Given the description of an element on the screen output the (x, y) to click on. 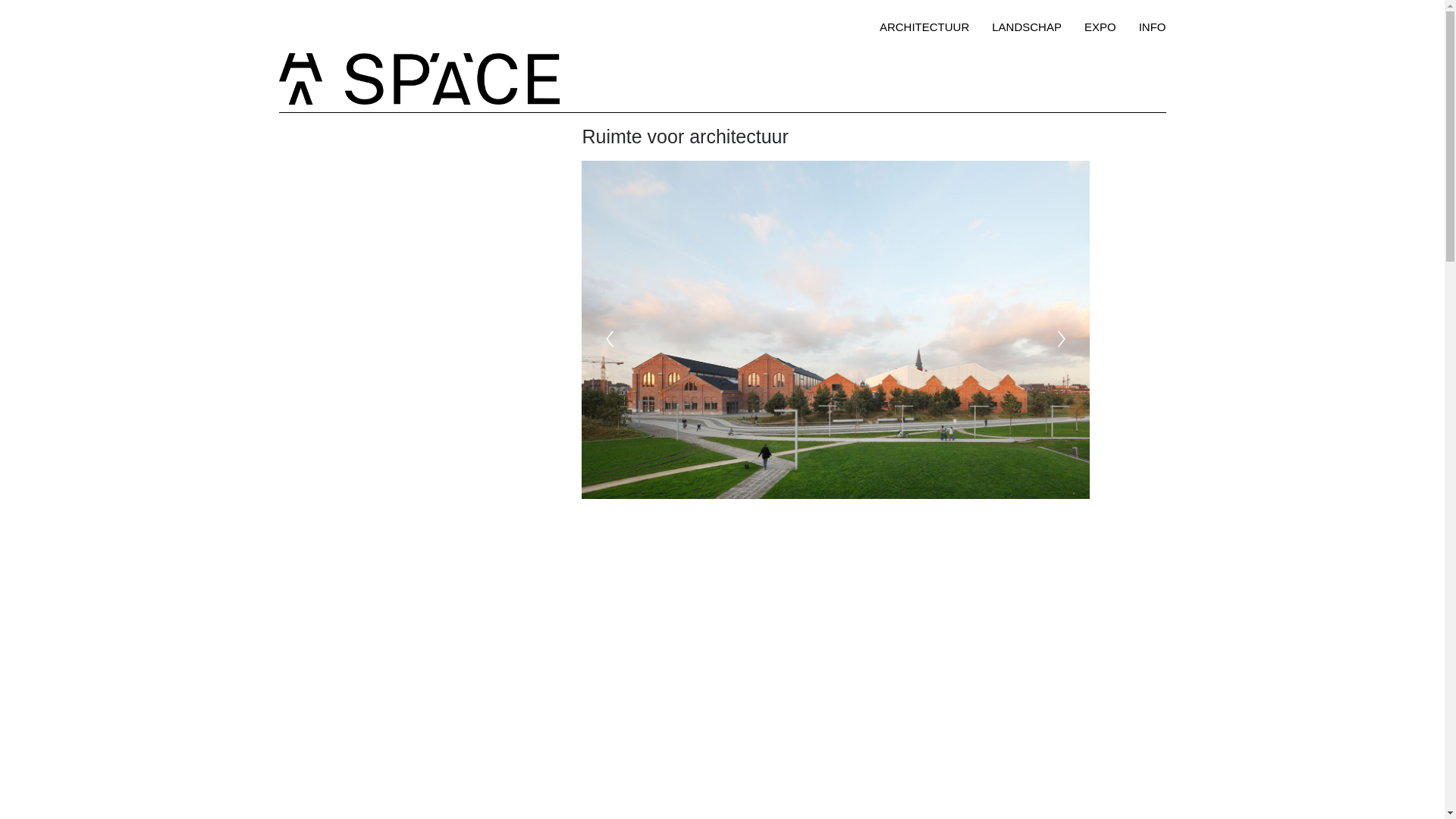
ARCHITECTUUR Element type: text (929, 25)
EXPO Element type: text (1100, 25)
LANDSCHAP Element type: text (1026, 25)
INFO Element type: text (1146, 25)
